Given the description of an element on the screen output the (x, y) to click on. 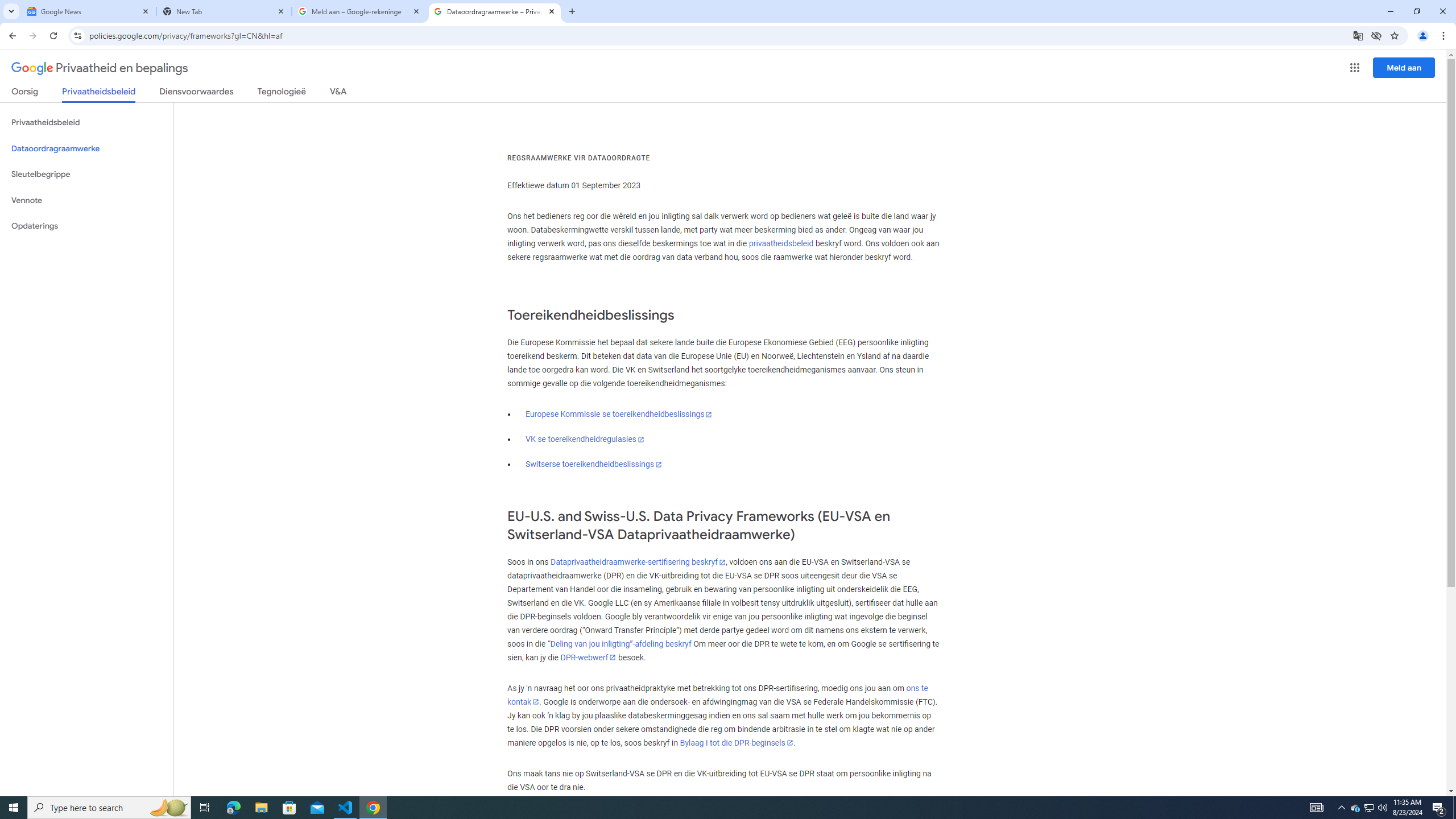
Switserse toereikendheidbeslissings (593, 464)
privaatheidsbeleid (780, 243)
Opdaterings (86, 225)
V&A (337, 93)
Privaatheidsbeleid (86, 122)
Oorsig (25, 93)
Vennote (86, 199)
Privaatheid en bepalings (99, 68)
